Given the description of an element on the screen output the (x, y) to click on. 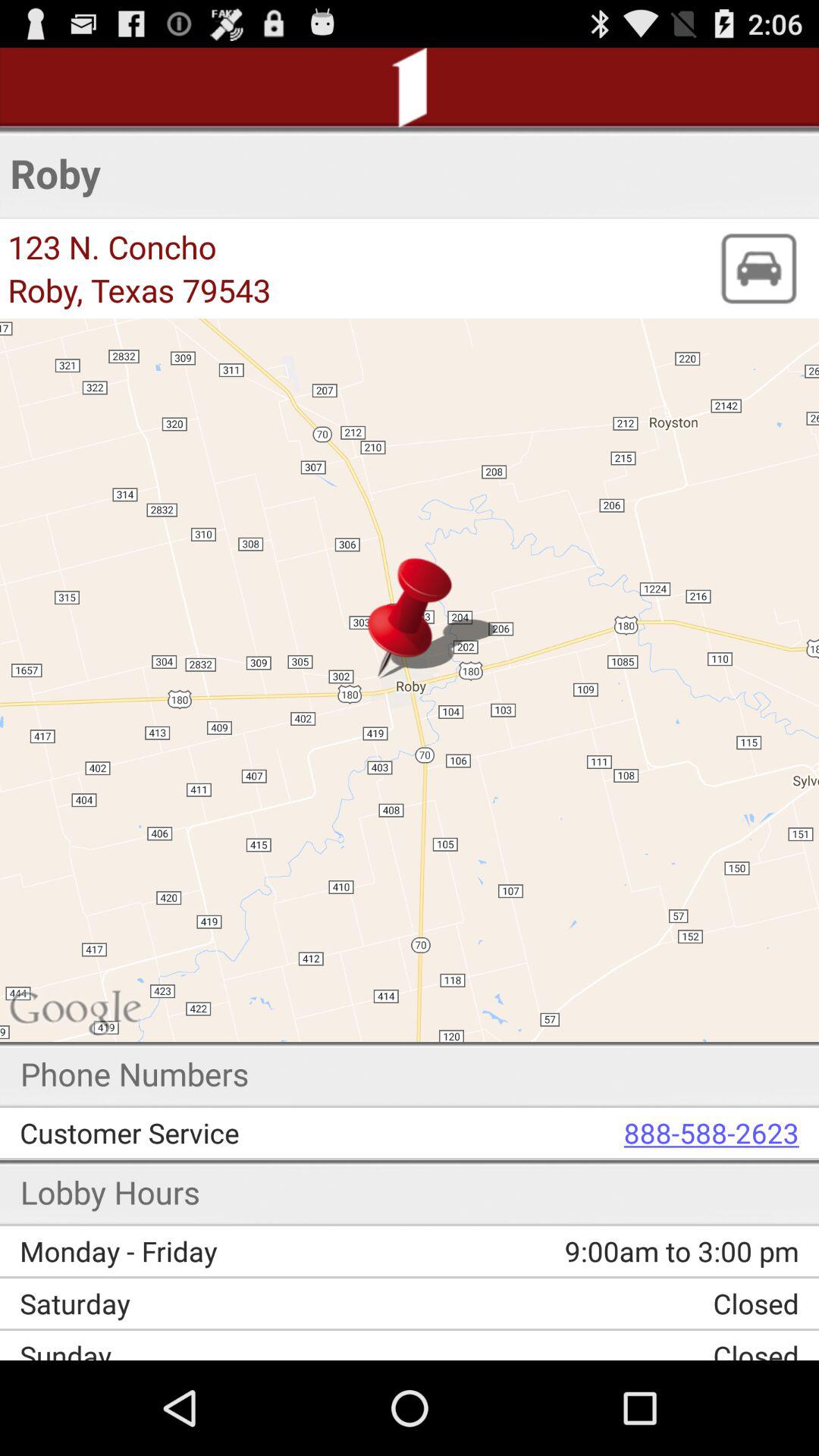
select item next to the closed icon (220, 1303)
